Given the description of an element on the screen output the (x, y) to click on. 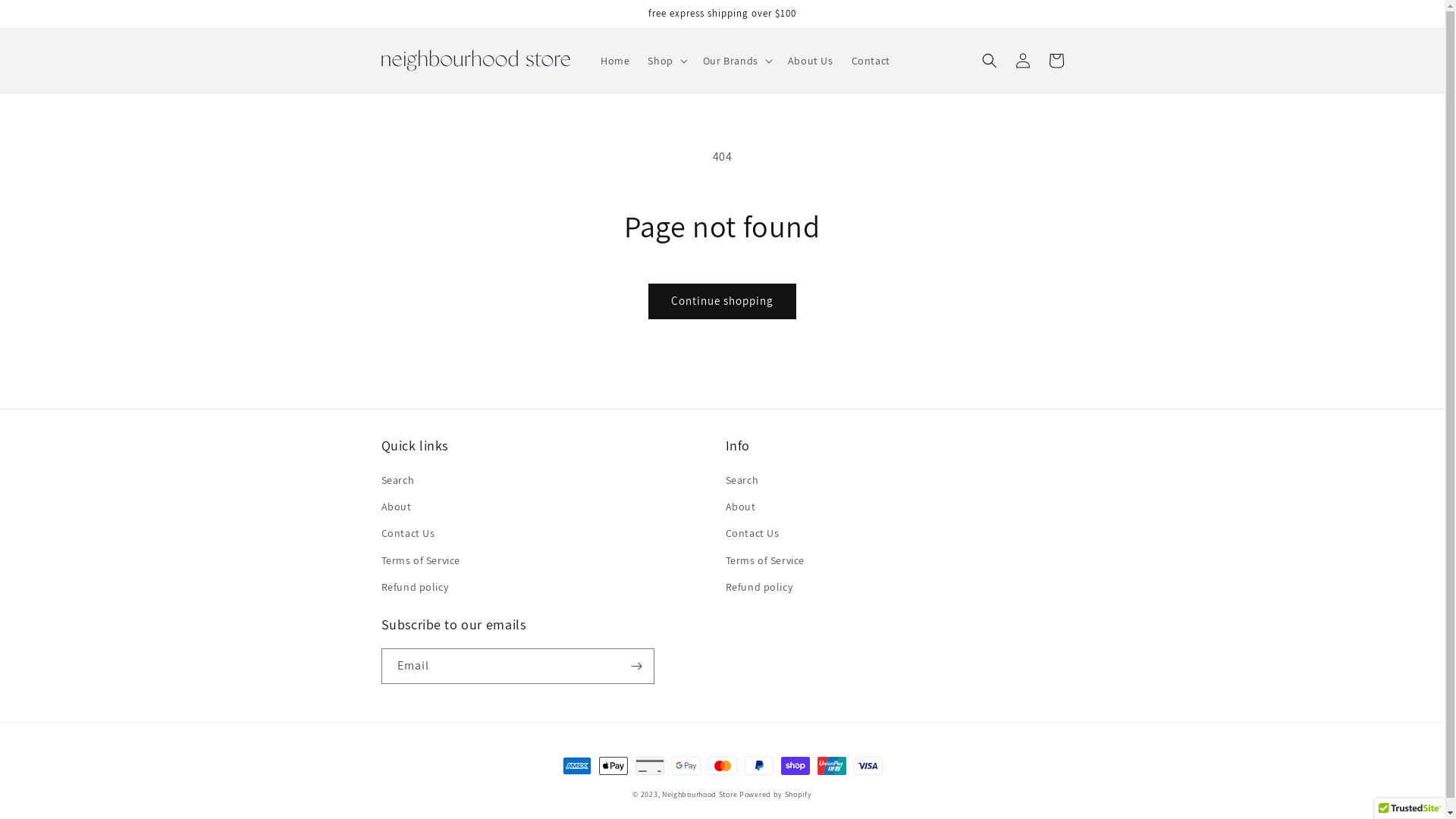
Continue shopping Element type: text (722, 301)
About Element type: text (395, 506)
Neighbourhood Store Element type: text (699, 794)
Terms of Service Element type: text (764, 560)
Contact Element type: text (870, 60)
Terms of Service Element type: text (420, 560)
About Element type: text (739, 506)
Cart Element type: text (1055, 60)
Contact Us Element type: text (751, 533)
Contact Us Element type: text (407, 533)
Powered by Shopify Element type: text (775, 794)
Refund policy Element type: text (414, 587)
Refund policy Element type: text (758, 587)
Log in Element type: text (1021, 60)
Search Element type: text (741, 481)
Search Element type: text (397, 481)
About Us Element type: text (810, 60)
Home Element type: text (614, 60)
